Given the description of an element on the screen output the (x, y) to click on. 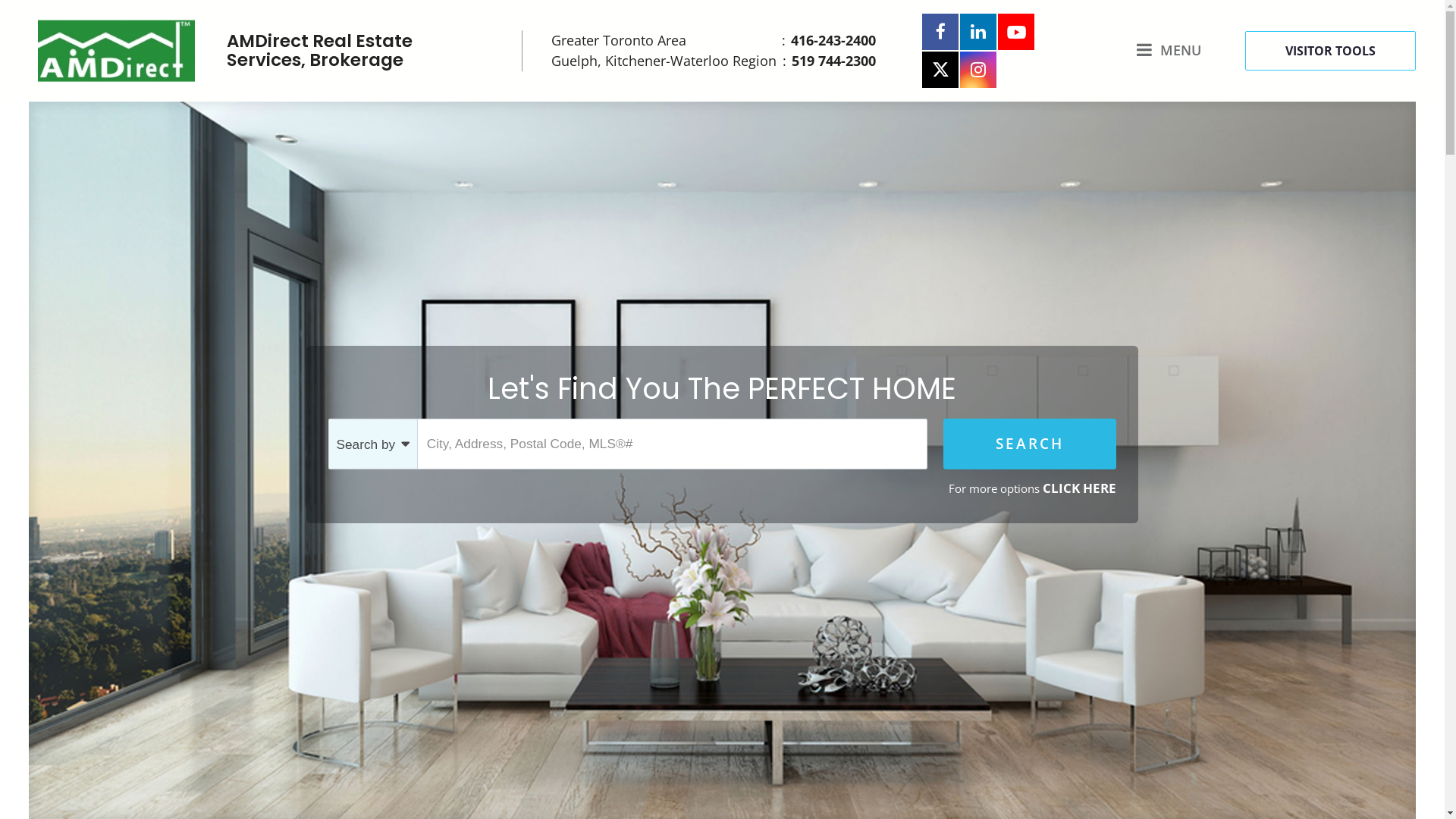
SEARCH Element type: text (1030, 443)
Search by Element type: text (372, 443)
CLICK HERE Element type: text (1079, 487)
VISITOR TOOLS Element type: text (1330, 50)
519 744-2300 Element type: text (828, 60)
416-243-2400 Element type: text (828, 40)
MENU Element type: text (1168, 49)
